Given the description of an element on the screen output the (x, y) to click on. 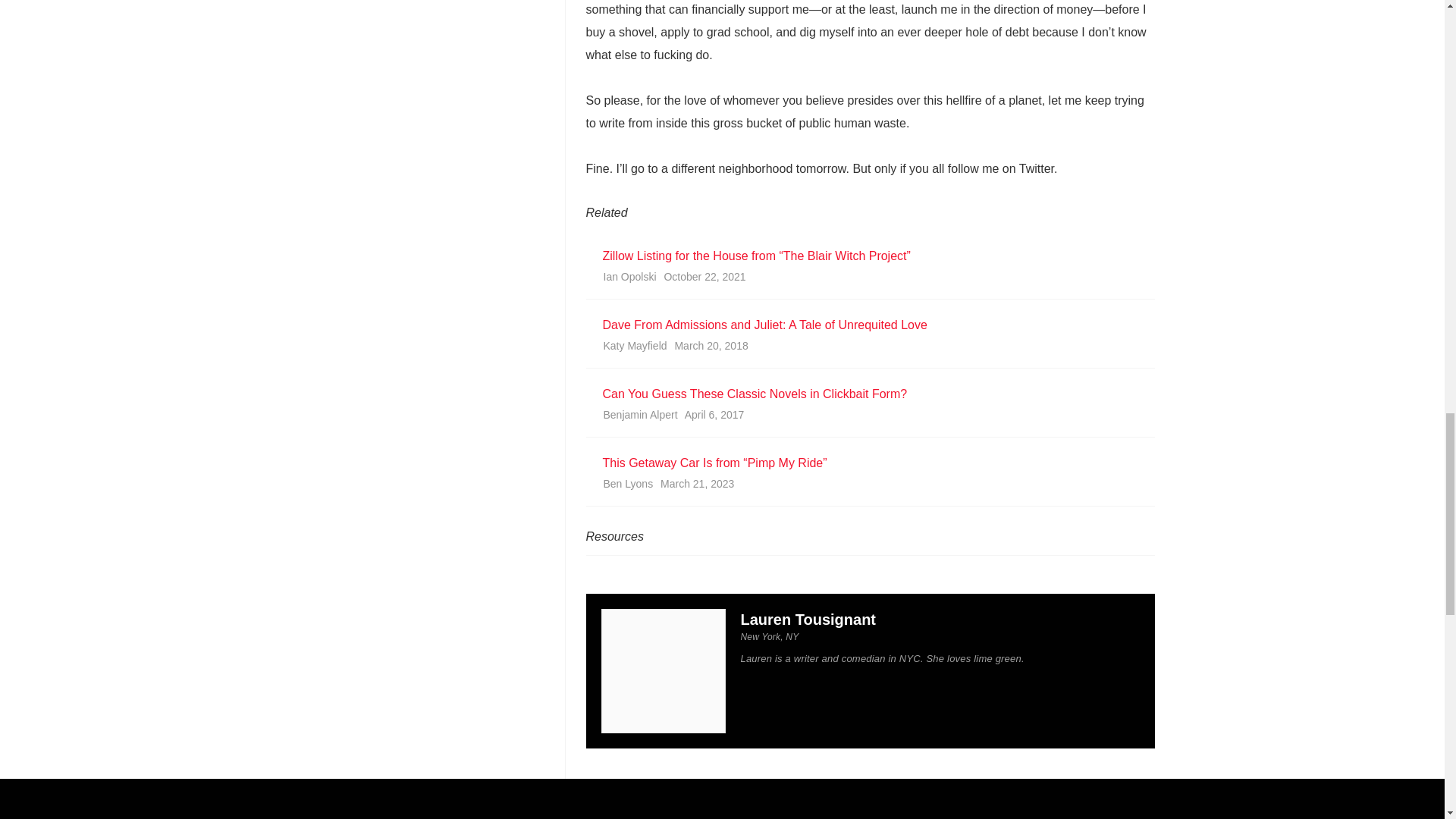
Katy Mayfield March 20, 2018 (867, 348)
Ian Opolski October 22, 2021 (867, 279)
Lauren Tousignant (807, 619)
Ben Lyons March 21, 2023 (867, 486)
Dave From Admissions and Juliet: A Tale of Unrequited Love (867, 324)
Posts by Lauren Tousignant (807, 619)
Benjamin Alpert April 6, 2017 (867, 417)
Can You Guess These Classic Novels in Clickbait Form? (867, 393)
